Given the description of an element on the screen output the (x, y) to click on. 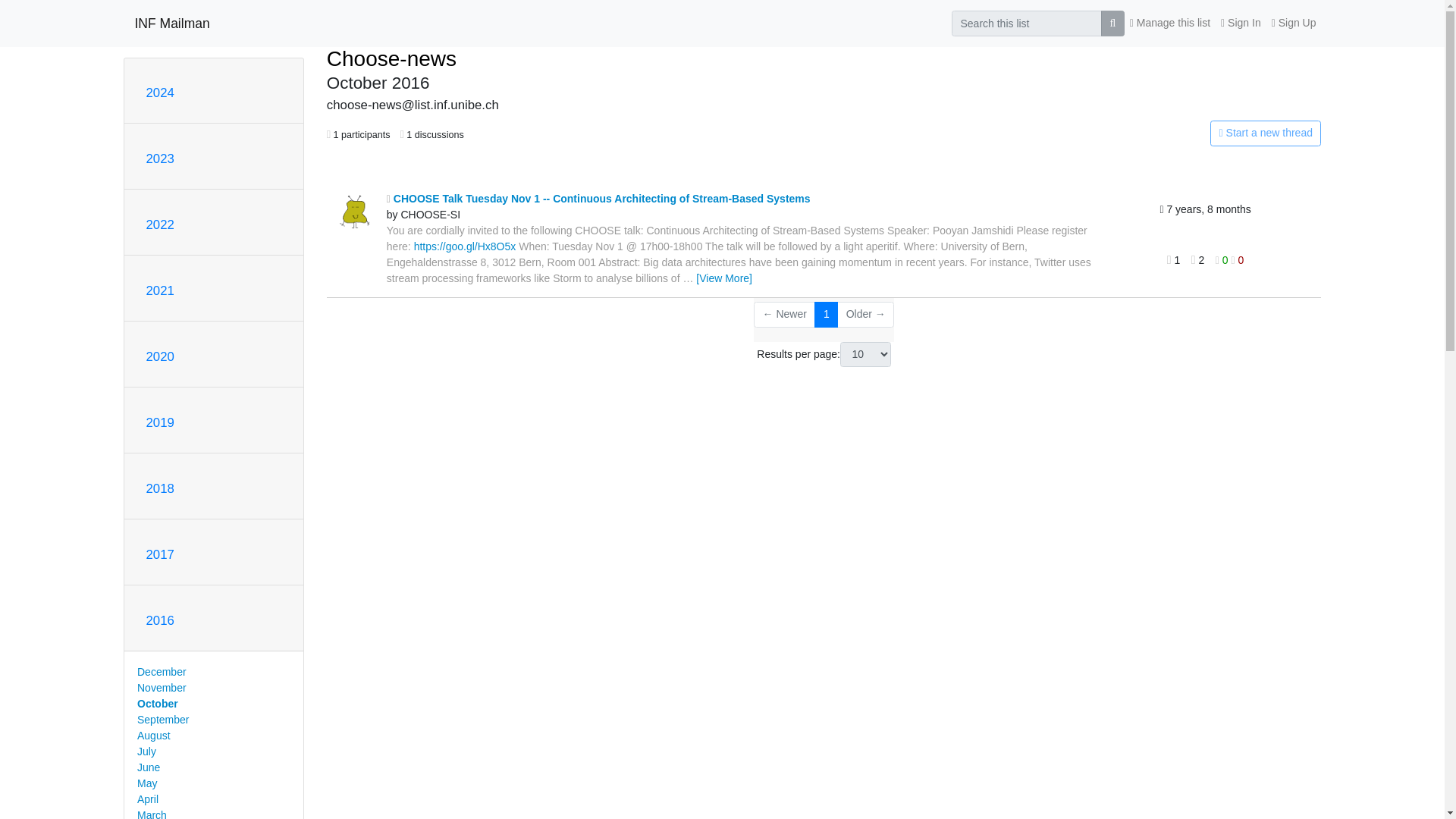
2022 (159, 224)
Sign In (1240, 22)
You must be logged-in to vote. (1236, 259)
Friday, 28 October 2016 15:44:42 (1204, 209)
Sign Up (1294, 22)
INF Mailman (172, 22)
You must be logged-in to create a thread. (1162, 133)
You must be logged-in to vote. (1223, 259)
2023 (159, 158)
Most recent thread activity (1160, 209)
2024 (159, 92)
Manage this list (1169, 22)
